Given the description of an element on the screen output the (x, y) to click on. 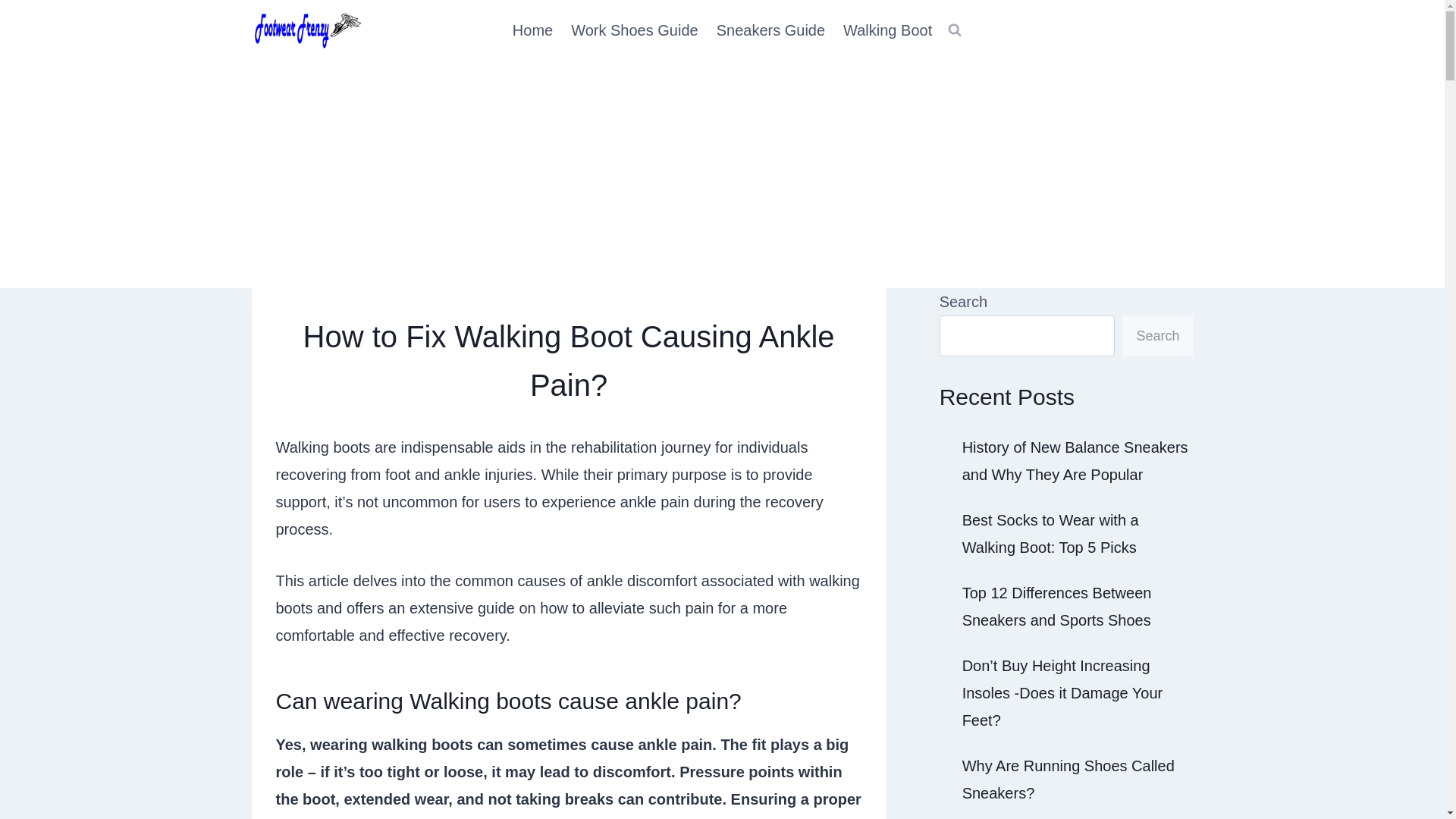
Why Are Running Shoes Called Sneakers? (1068, 779)
Sneakers Guide (770, 30)
Best Socks to Wear with a Walking Boot: Top 5 Picks (1050, 533)
Walking Boot (887, 30)
History of New Balance Sneakers and Why They Are Popular (1075, 460)
Home (532, 30)
Work Shoes Guide (634, 30)
Top 12 Differences Between Sneakers and Sports Shoes (1056, 606)
Search (1157, 335)
